Given the description of an element on the screen output the (x, y) to click on. 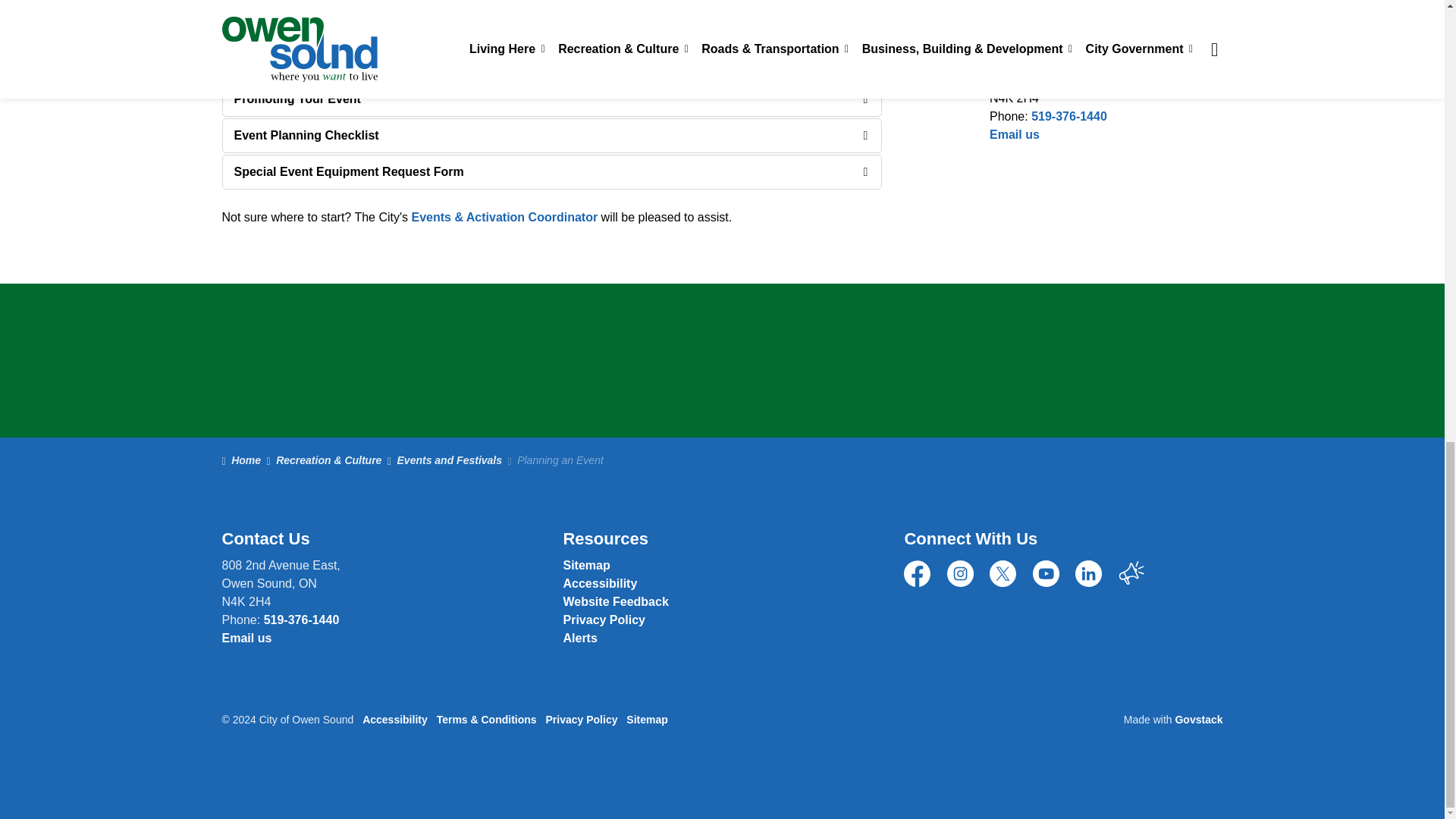
Privacy Policy (603, 619)
Accessibility (599, 583)
Send an email to Events (503, 216)
News and Public Notices (579, 637)
Contacts Directory (245, 637)
Contacts Directory (615, 601)
Sitemap (586, 564)
Contacts Directory (1014, 133)
